Given the description of an element on the screen output the (x, y) to click on. 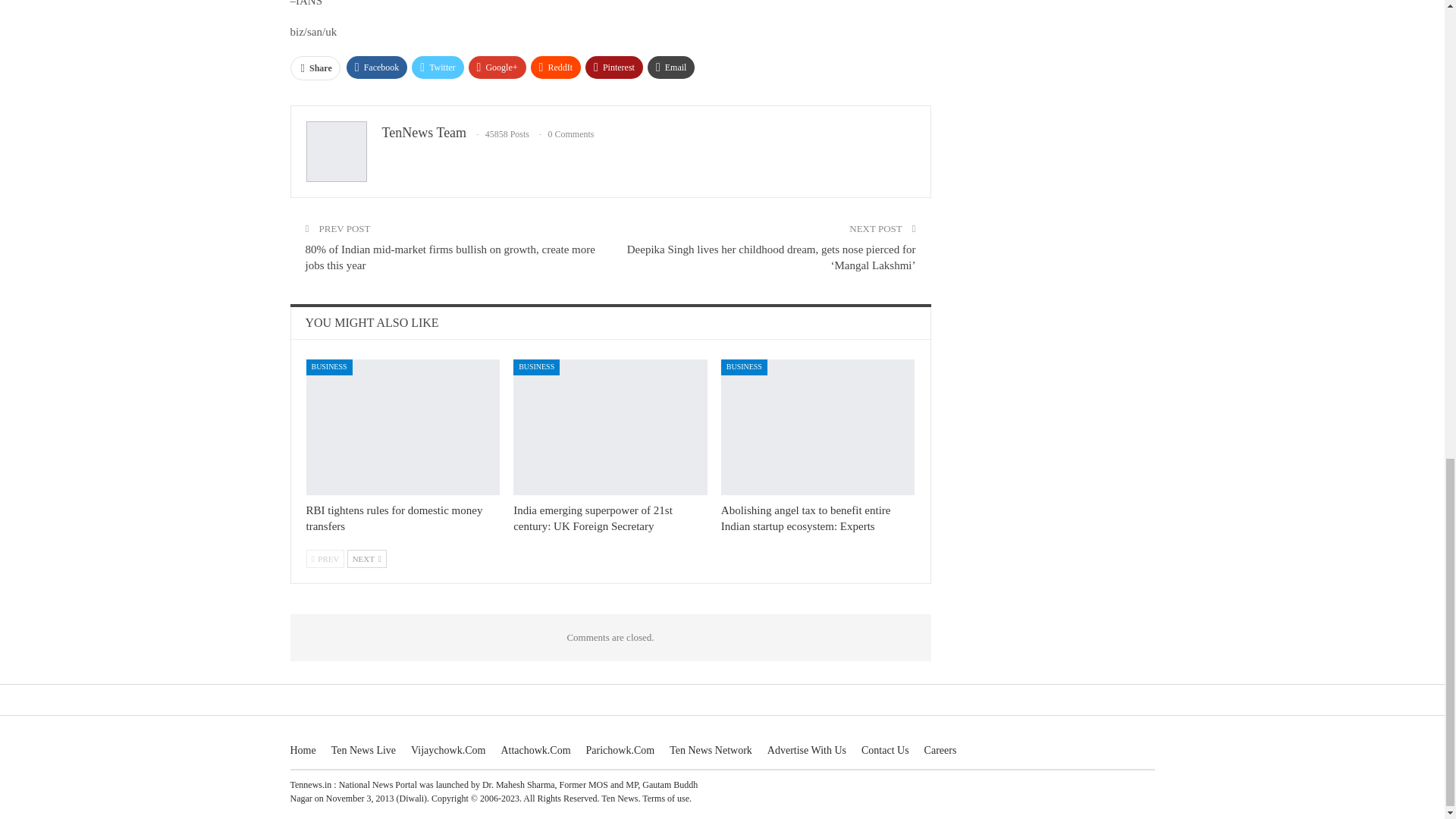
Next (367, 558)
Facebook (376, 67)
ReddIt (555, 67)
Previous (325, 558)
RBI tightens rules for domestic money transfers (402, 427)
Twitter (437, 67)
RBI tightens rules for domestic money transfers (394, 518)
